Given the description of an element on the screen output the (x, y) to click on. 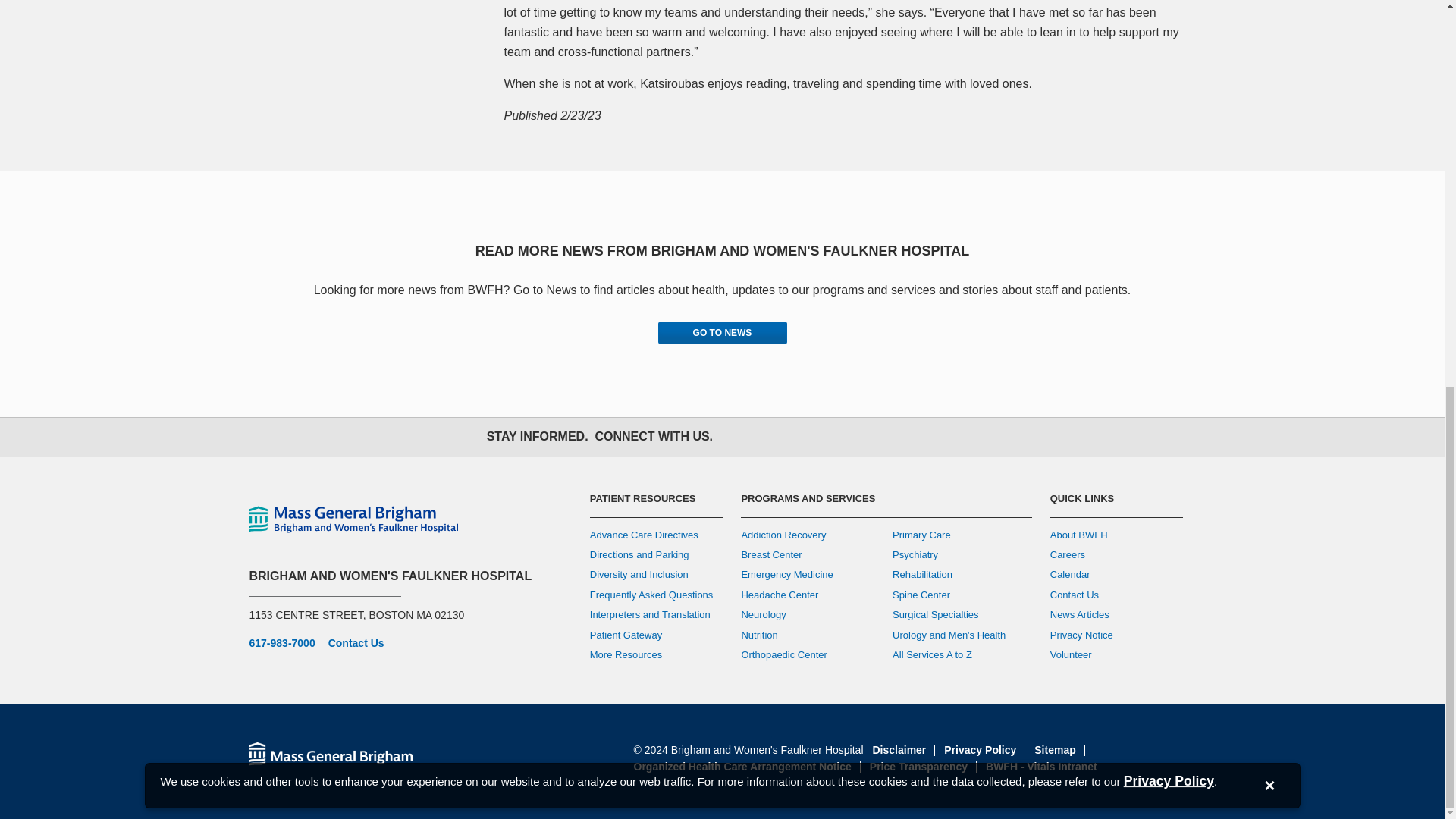
LinkedIn (871, 436)
Contact Us (356, 643)
Directions and Parking (638, 554)
GO TO NEWS (722, 332)
Instagram (804, 436)
Privacy Policy (1169, 50)
Facebook (738, 436)
Facebook (738, 436)
Twitter (772, 436)
LinkedIn (871, 436)
